Given the description of an element on the screen output the (x, y) to click on. 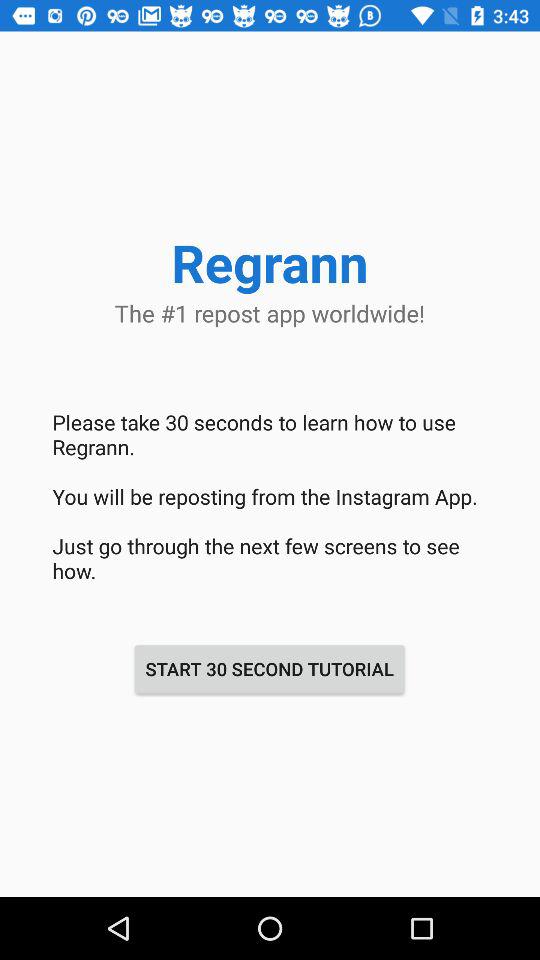
turn on the item below the please take 30 (269, 668)
